Given the description of an element on the screen output the (x, y) to click on. 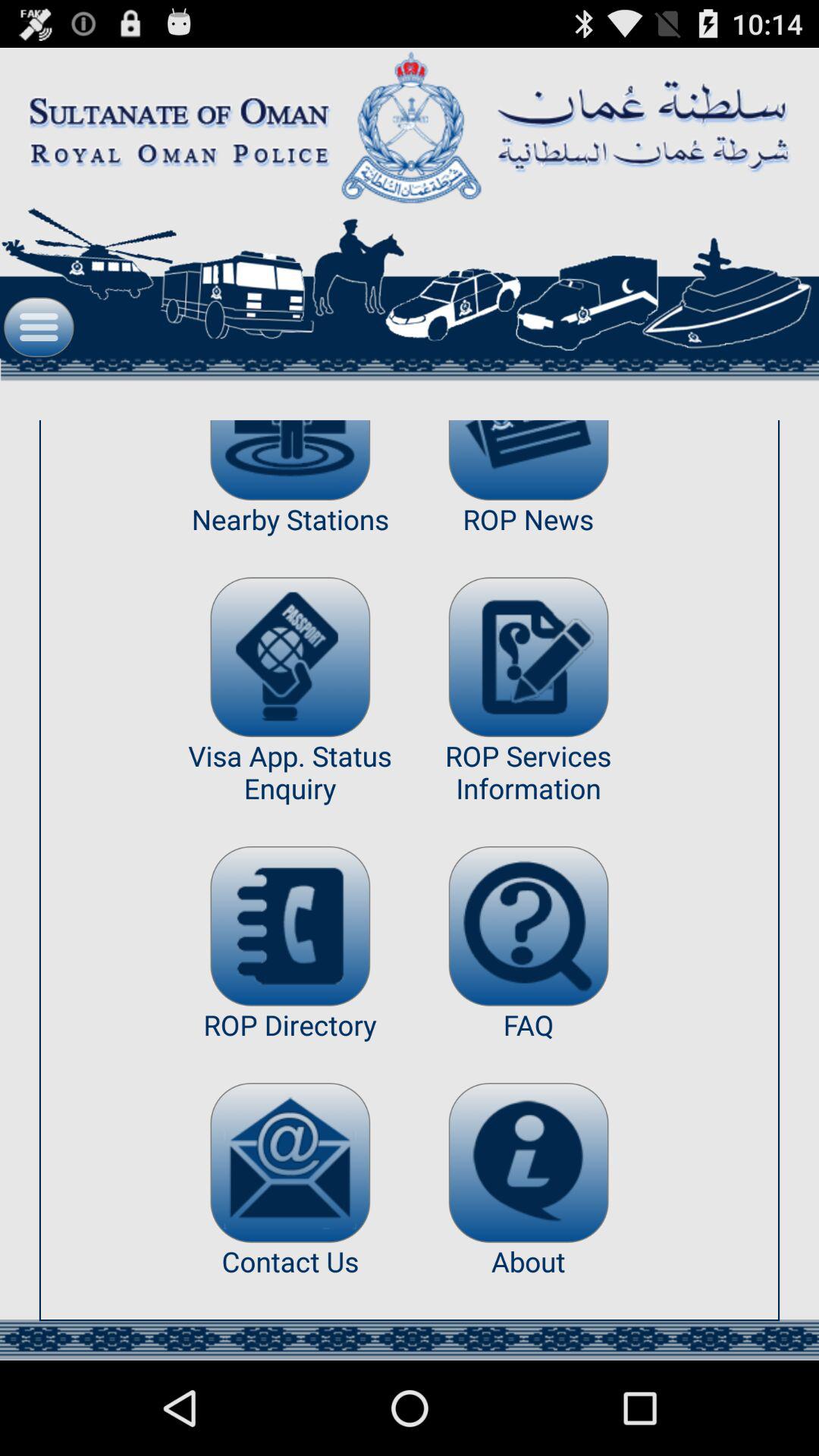
see full menu (38, 327)
